Given the description of an element on the screen output the (x, y) to click on. 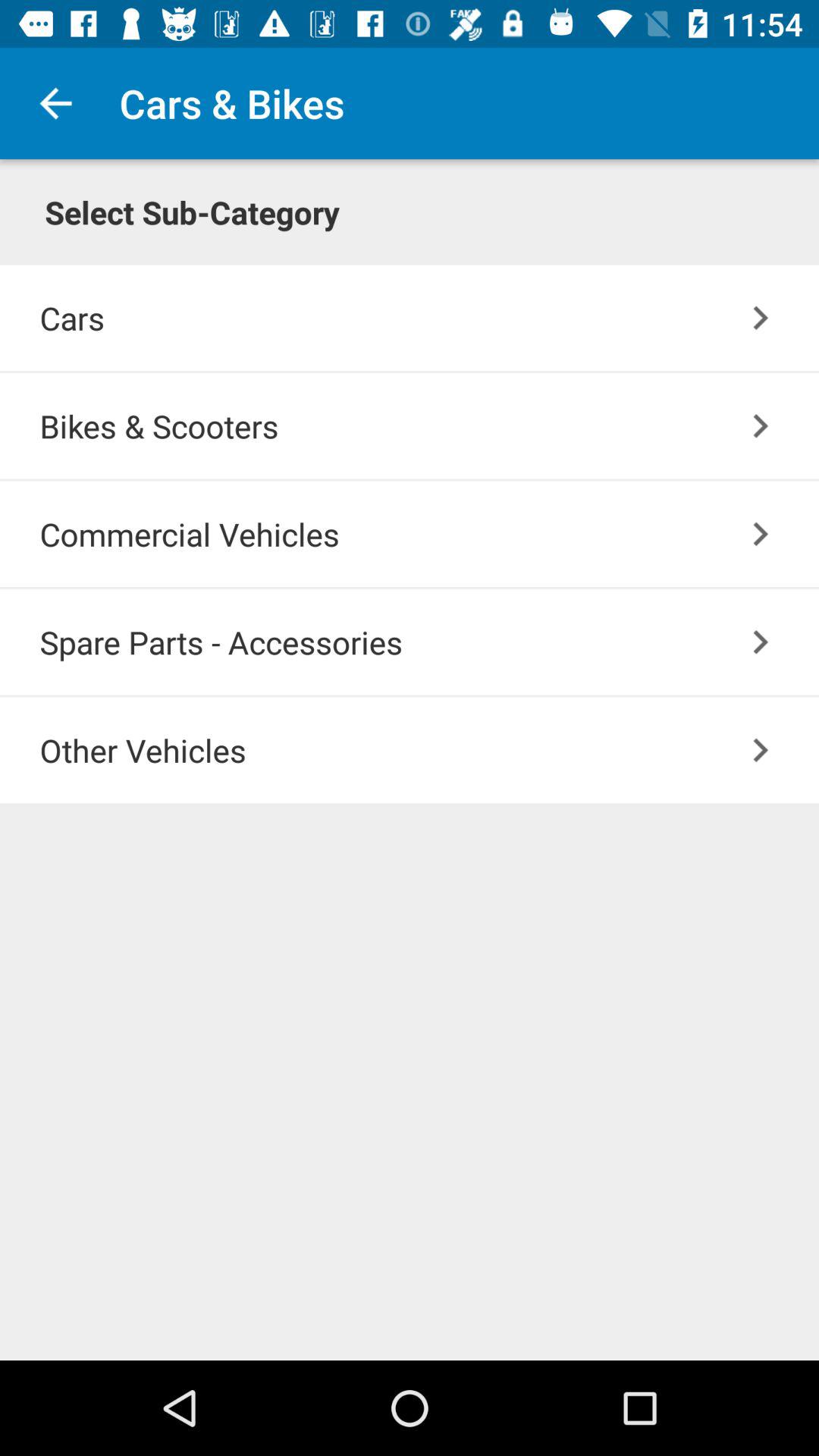
turn on the item below commercial vehicles item (760, 642)
